Given the description of an element on the screen output the (x, y) to click on. 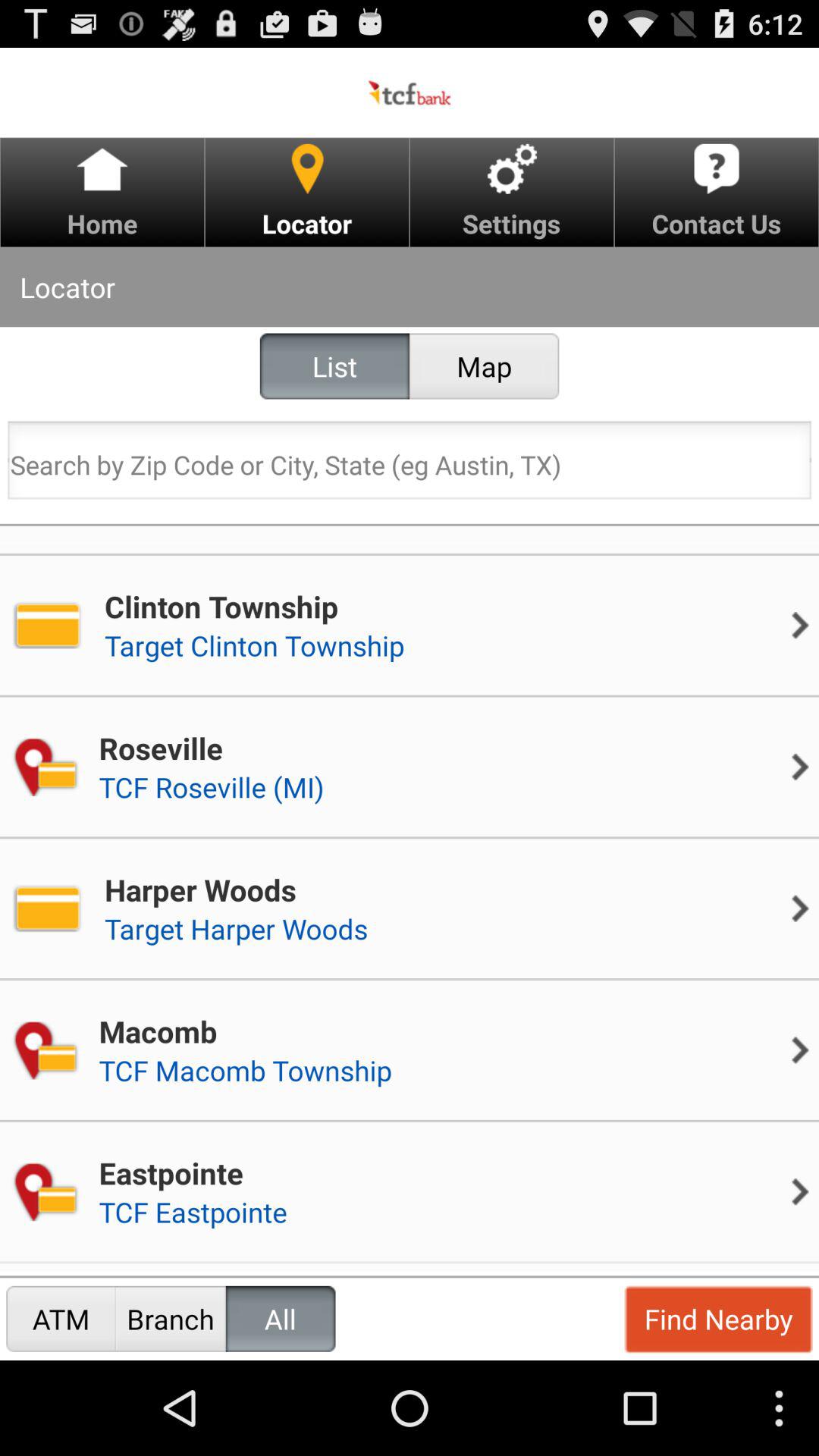
turn off all icon (280, 1318)
